Given the description of an element on the screen output the (x, y) to click on. 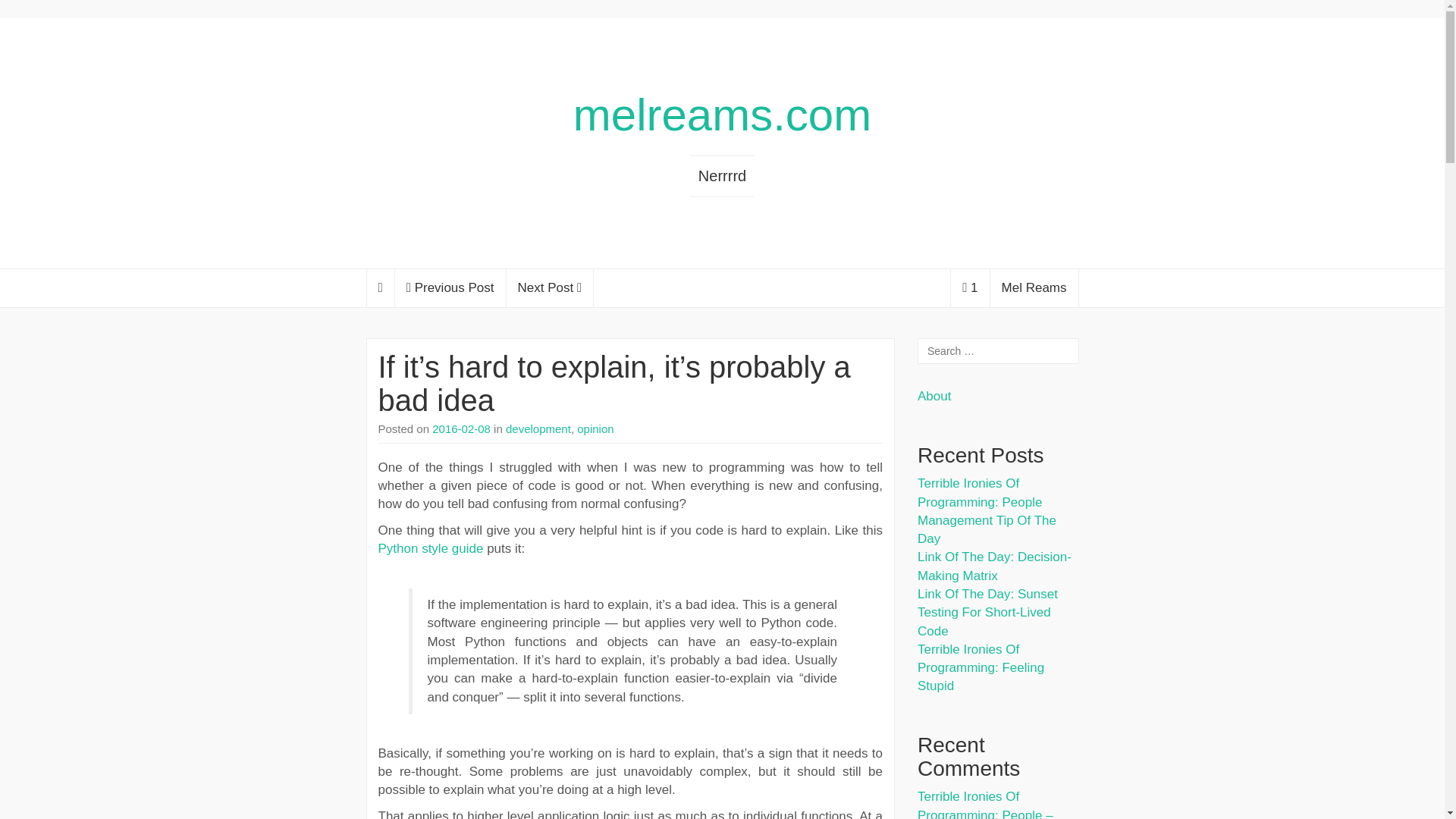
View all posts in development (537, 428)
Search (25, 10)
Mel Reams (1034, 288)
melreams.com (721, 114)
About (933, 396)
opinion (594, 428)
1 (969, 288)
development (537, 428)
Previous Post (449, 288)
Link Of The Day: Sunset Testing For Short-Lived Code (987, 612)
2016-02-08 (461, 428)
Management Tip Of The Day (987, 529)
View all posts in opinion (594, 428)
Link Of The Day: Decision-Making Matrix (994, 565)
Next Post (550, 288)
